Given the description of an element on the screen output the (x, y) to click on. 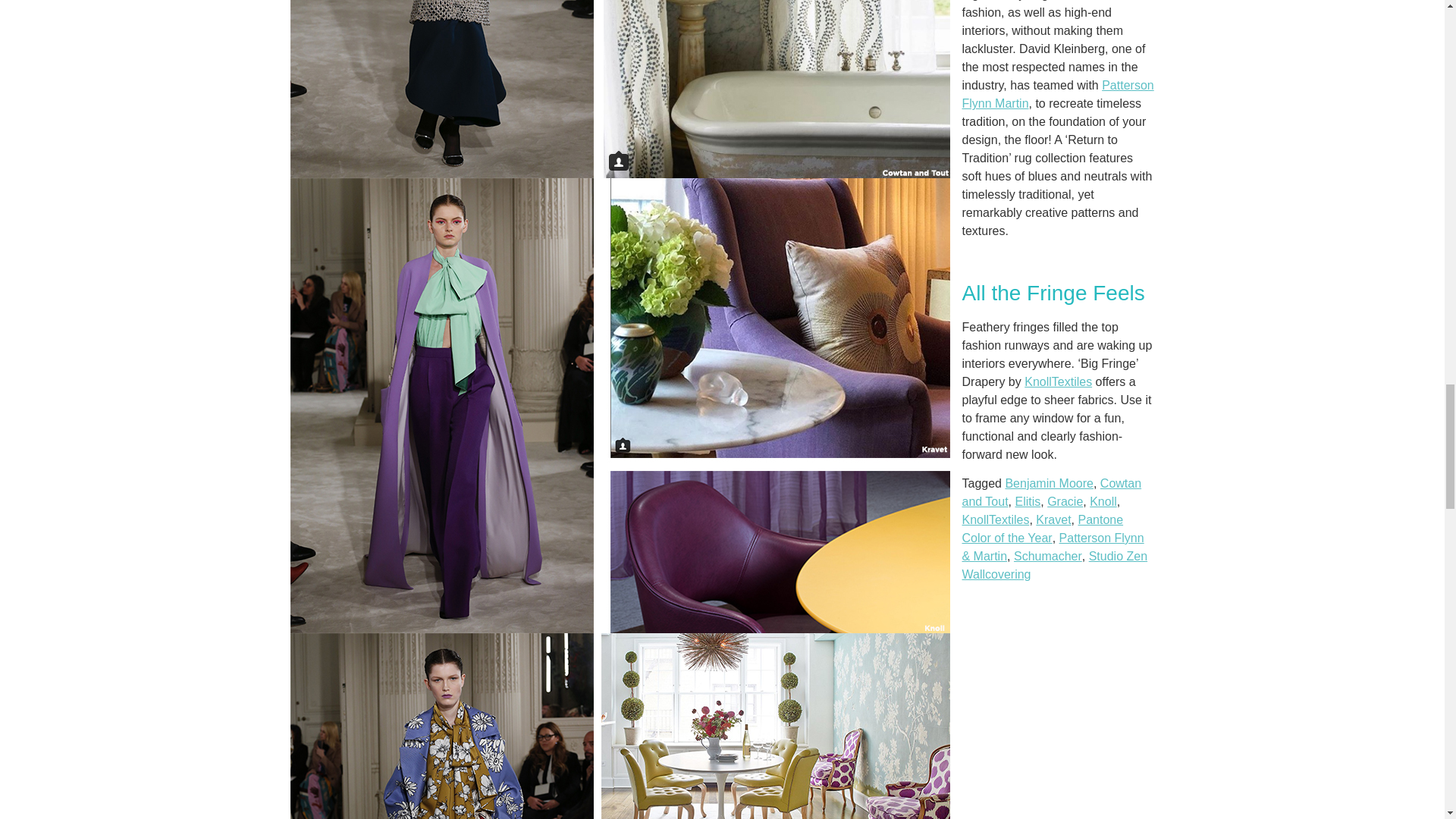
Knoll (1102, 501)
Elitis (1027, 501)
Schumacher (1047, 555)
Gracie (1064, 501)
KnollTextiles (1058, 381)
Kravet (1052, 519)
KnollTextiles (994, 519)
Patterson Flynn Martin (1056, 93)
Studio Zen Wallcovering (1053, 564)
Cowtan and Tout (1050, 491)
